Given the description of an element on the screen output the (x, y) to click on. 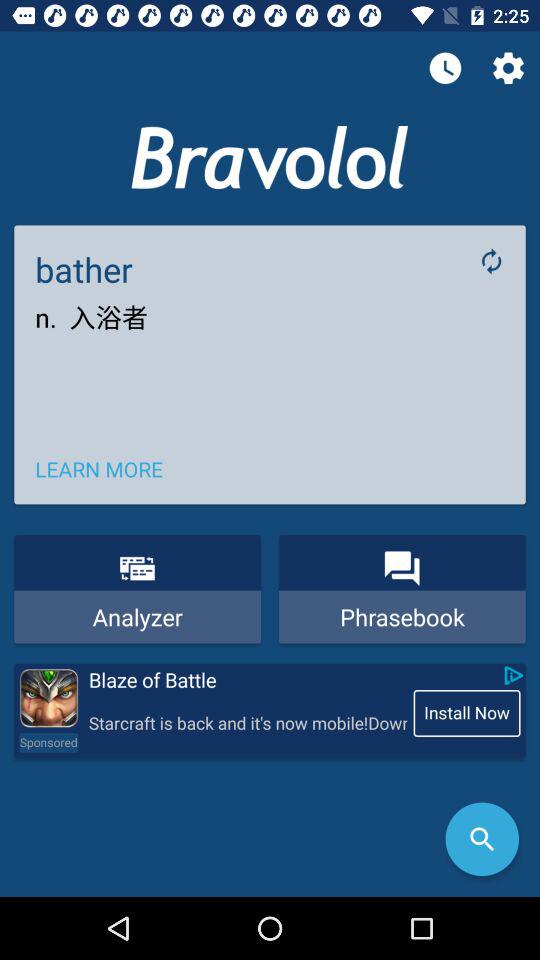
choose the item next to starcraft is back item (48, 742)
